Given the description of an element on the screen output the (x, y) to click on. 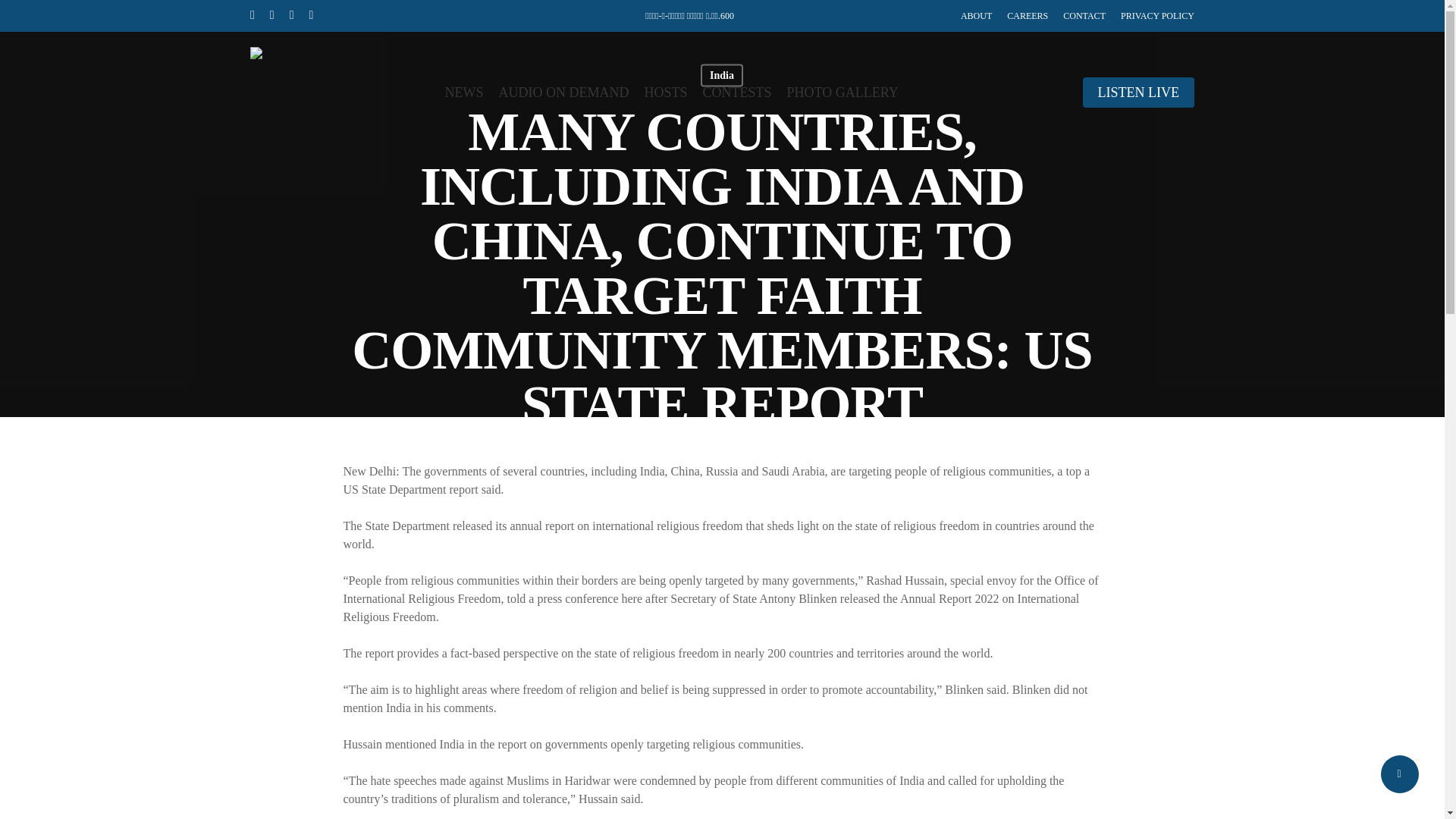
NEWS (464, 92)
HOSTS (666, 92)
ABOUT (975, 15)
CONTACT (1083, 15)
LISTEN LIVE (1138, 92)
PRIVACY POLICY (1157, 15)
PHOTO GALLERY (842, 92)
CONTESTS (737, 92)
AUDIO ON DEMAND (563, 92)
CAREERS (1027, 15)
